Given the description of an element on the screen output the (x, y) to click on. 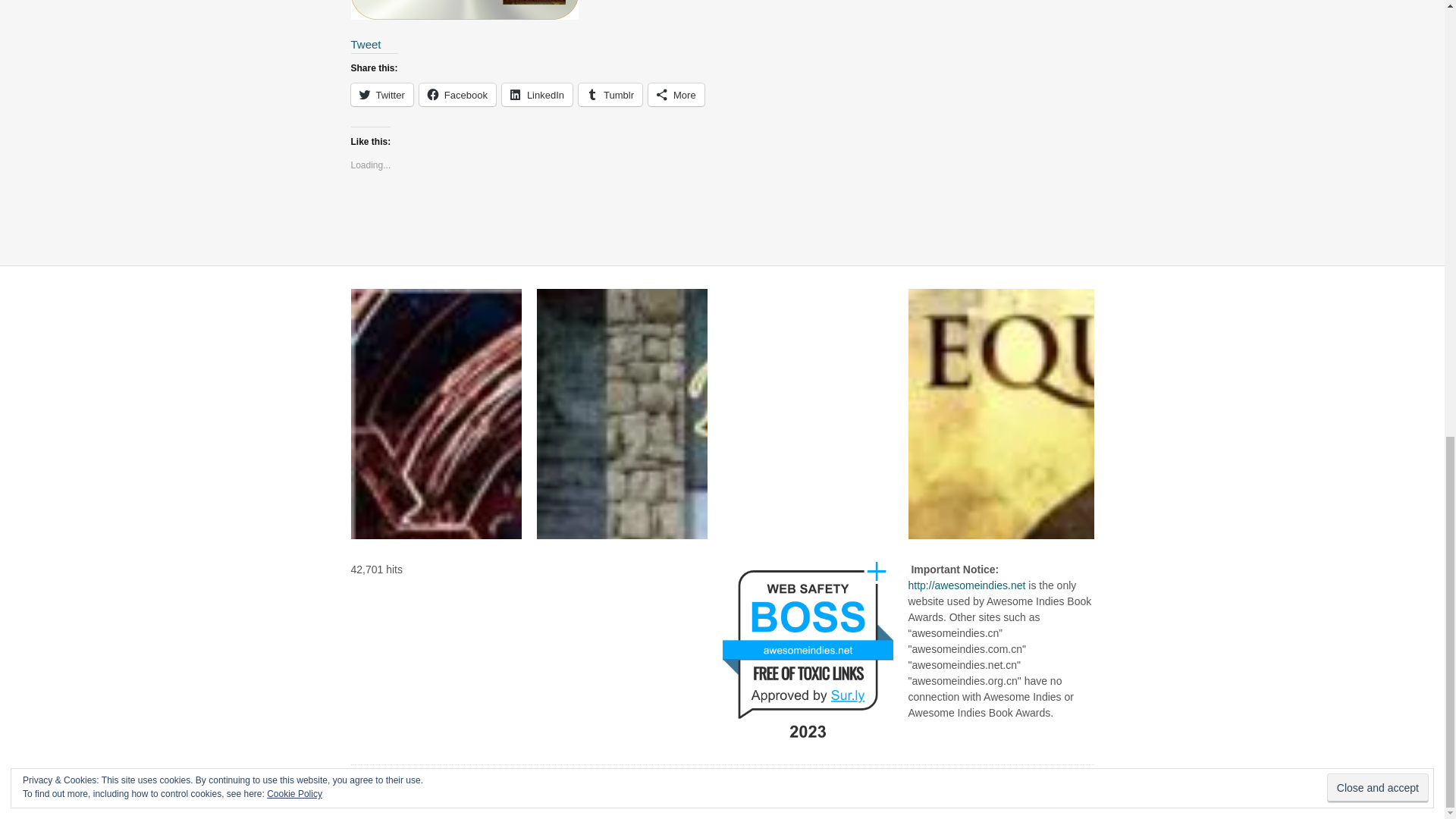
Tweet (365, 43)
Click to share on Tumblr (610, 94)
Twitter (381, 94)
Facebook (457, 94)
Click to share on LinkedIn (537, 94)
LinkedIn (537, 94)
Tumblr (610, 94)
Click to share on Facebook (457, 94)
Click to share on Twitter (381, 94)
